Given the description of an element on the screen output the (x, y) to click on. 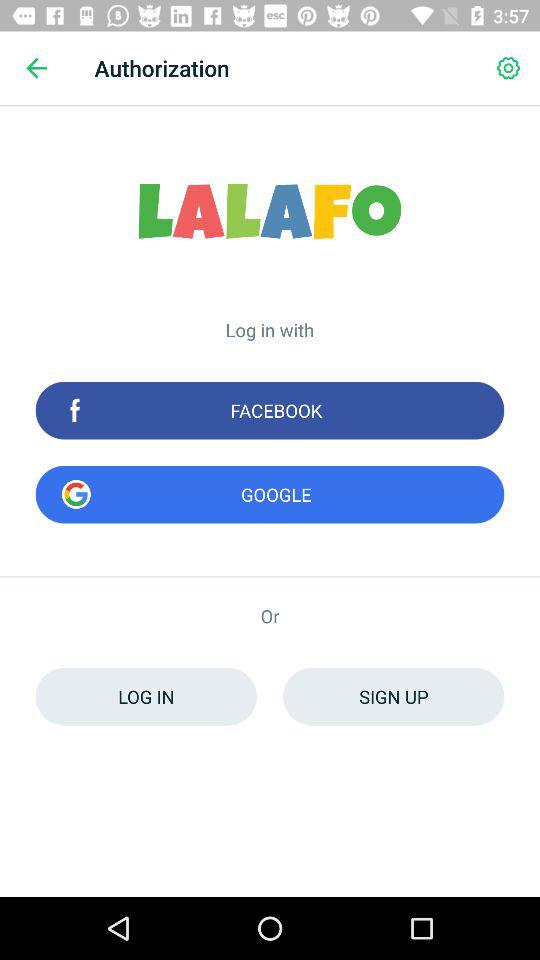
launch icon next to the authorization icon (36, 68)
